Given the description of an element on the screen output the (x, y) to click on. 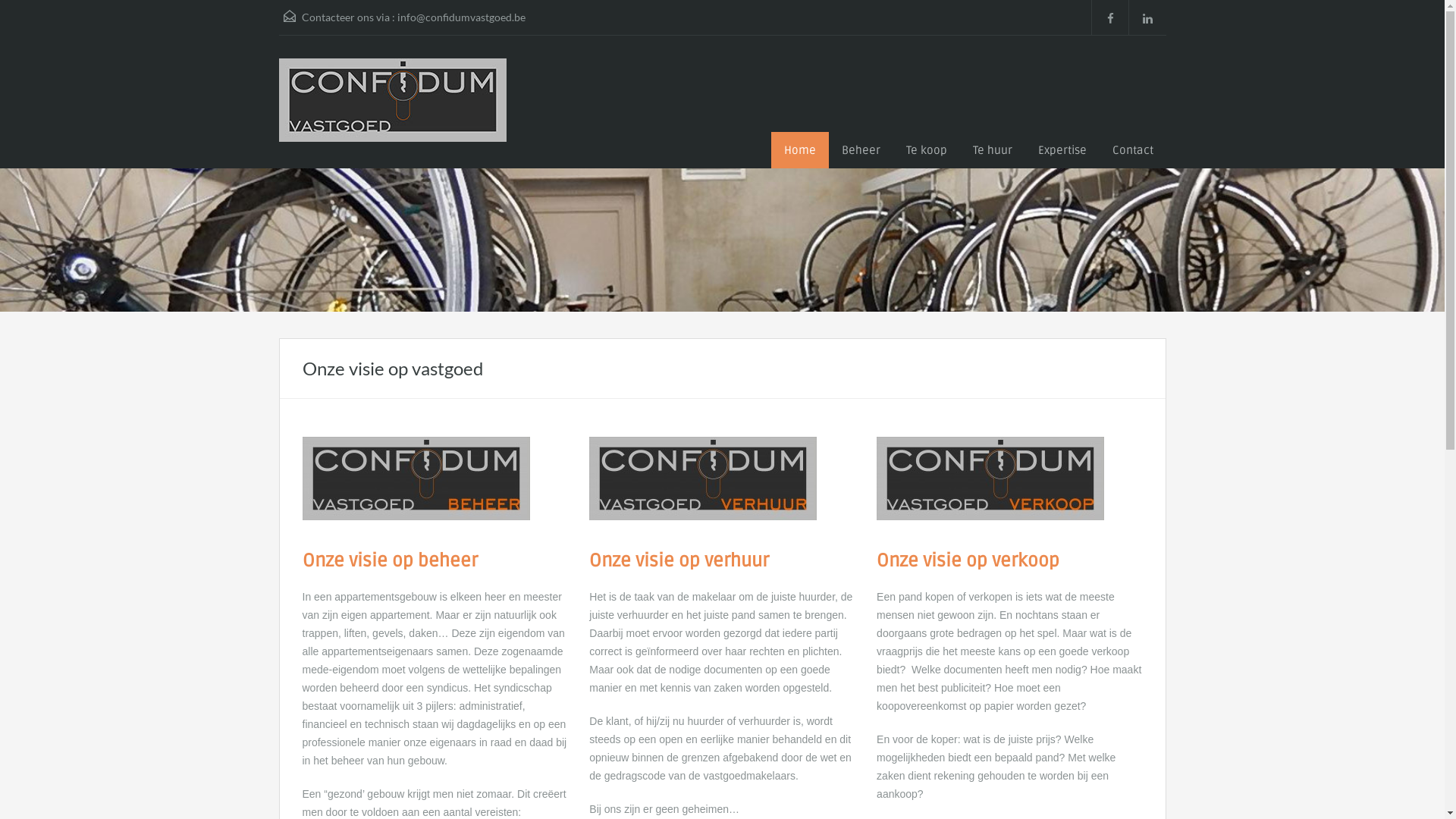
Contact Element type: text (1132, 149)
Te huur Element type: text (992, 149)
Expertise Element type: text (1062, 149)
Confidum Vastgoed Element type: hover (392, 113)
Home Element type: text (799, 149)
info@confidumvastgoed.be Element type: text (461, 16)
Te koop Element type: text (926, 149)
Beheer Element type: text (860, 149)
